Given the description of an element on the screen output the (x, y) to click on. 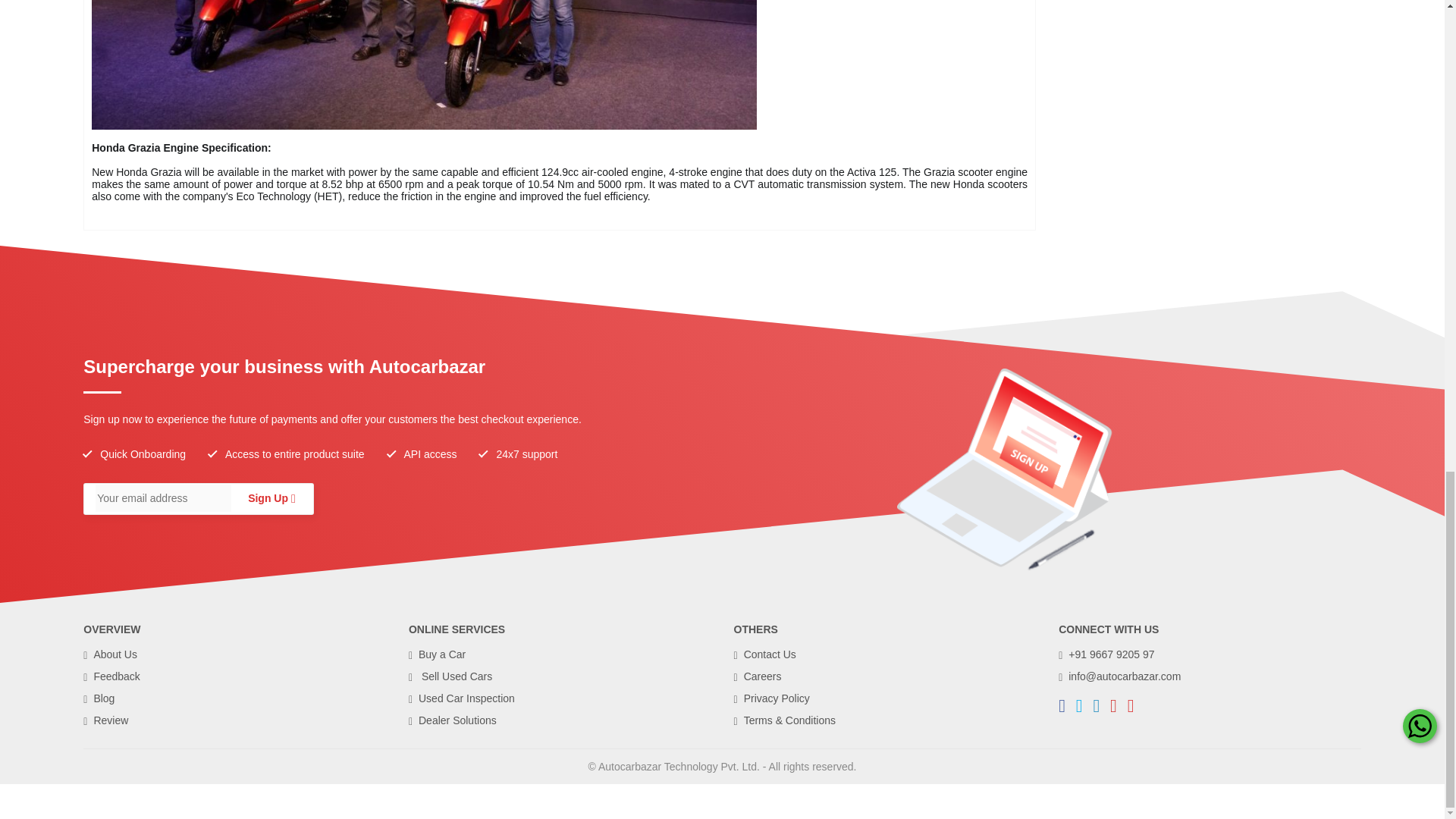
Buy a Car (437, 654)
Careers (757, 676)
Dealer Solutions (452, 720)
Privacy Policy (771, 698)
Feedback (110, 676)
Blog (98, 698)
Sign Up (267, 498)
New Honda Grazia 125cc Scooter Launch (424, 64)
Sell Used Cars (450, 676)
Contact Us (764, 654)
Review (105, 720)
About Us (109, 654)
Used Car Inspection (462, 698)
